Given the description of an element on the screen output the (x, y) to click on. 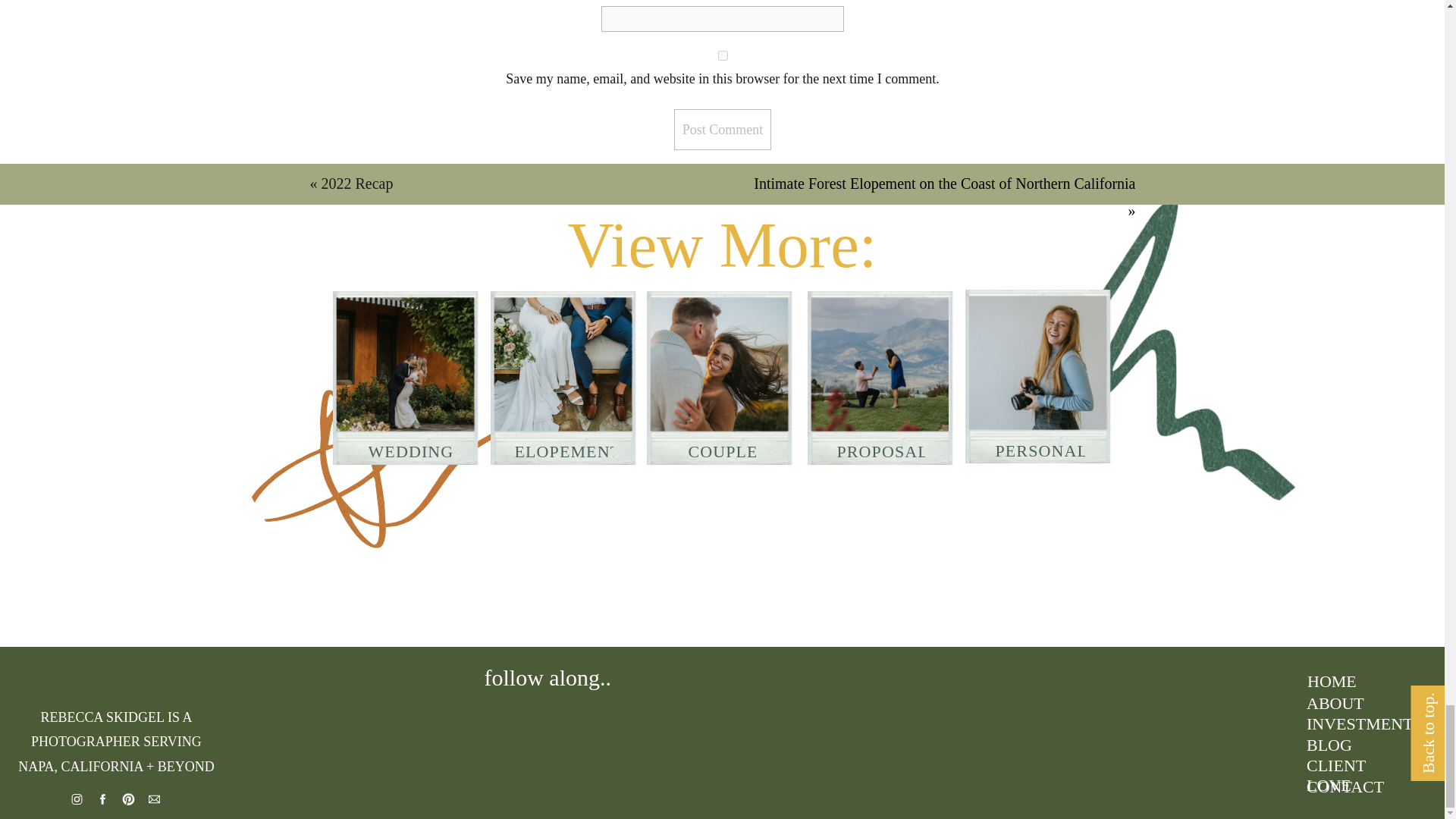
yes (722, 55)
Post Comment (722, 128)
